Given the description of an element on the screen output the (x, y) to click on. 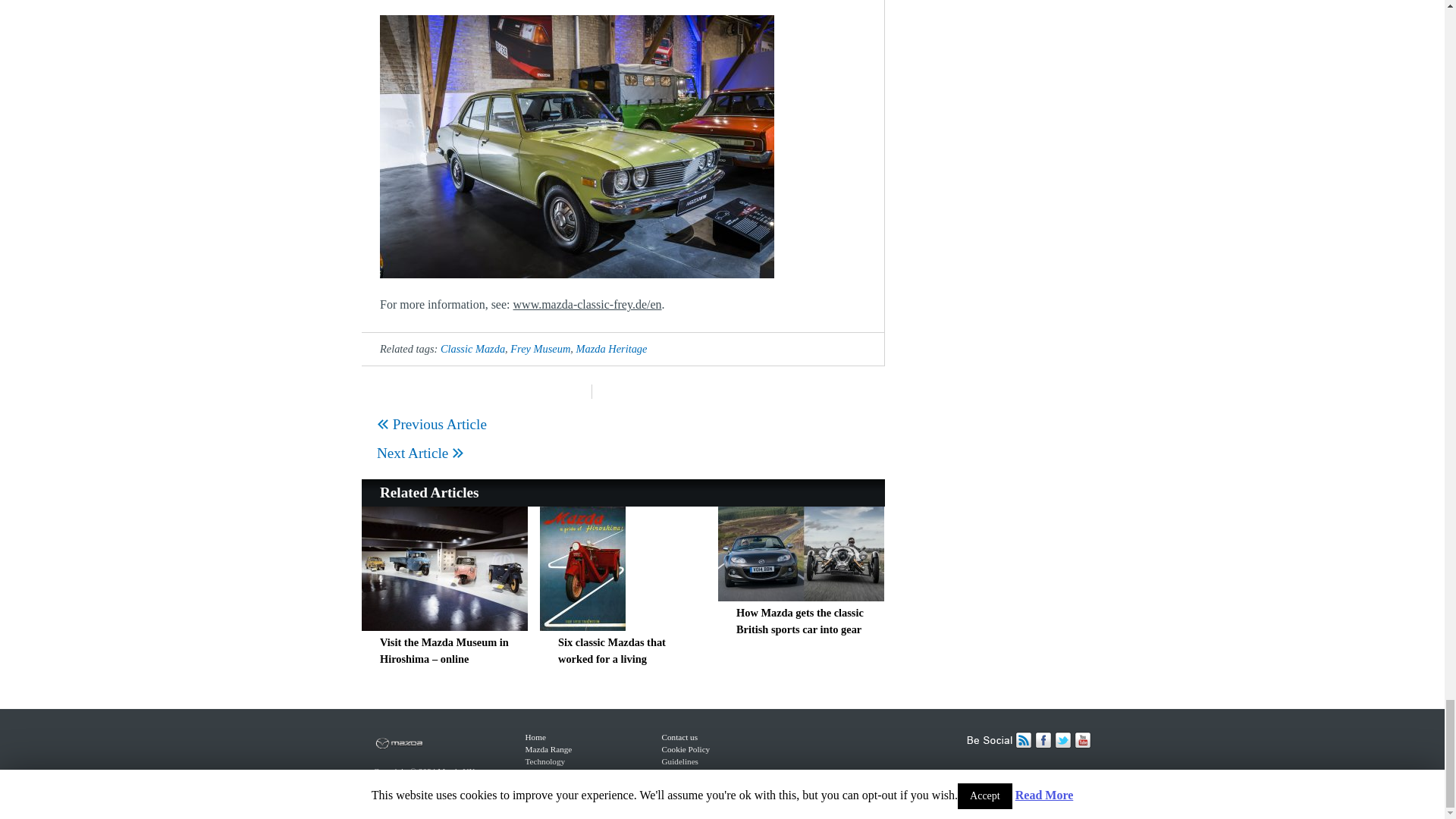
Classic Mazda (473, 348)
Frey Museum (540, 348)
Inside Mazda (448, 758)
Six classic Mazdas that worked for a living (611, 650)
How Mazda gets the classic British sports car into gear (799, 620)
Mazda UK on Facebook (1043, 745)
How Mazda gets the classic British sports car into gear (800, 596)
RSS2 Feed (1023, 745)
Six classic Mazdas that worked for a living (583, 625)
Mazda Heritage (611, 348)
Next Article (420, 453)
Previous Article (431, 424)
